Given the description of an element on the screen output the (x, y) to click on. 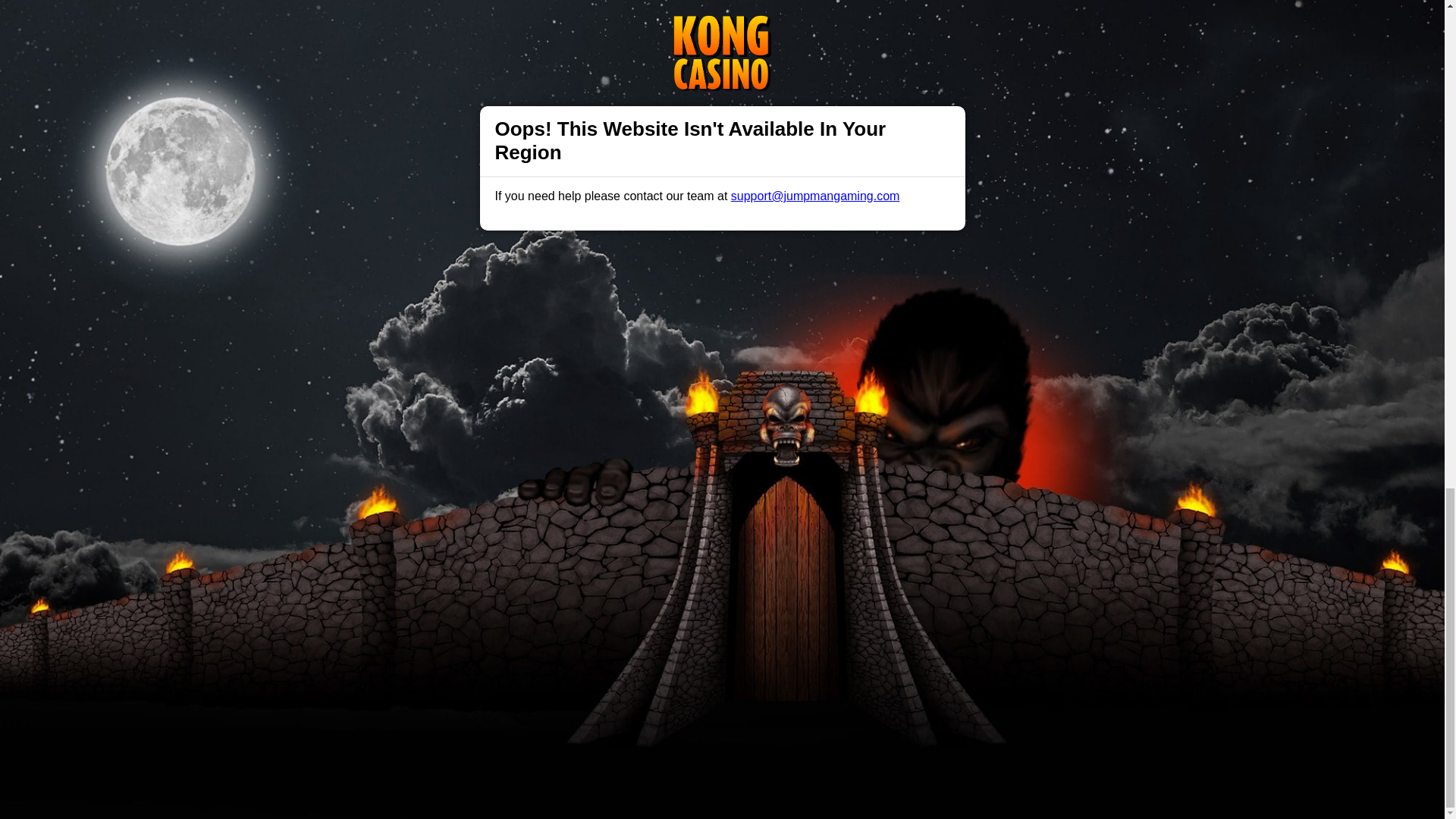
Responsible Gaming (407, 491)
Privacy Policy (671, 491)
Help (489, 491)
Back To All Games (721, 393)
Blog (738, 491)
Affiliates (791, 491)
Back To All Games (722, 393)
